Given the description of an element on the screen output the (x, y) to click on. 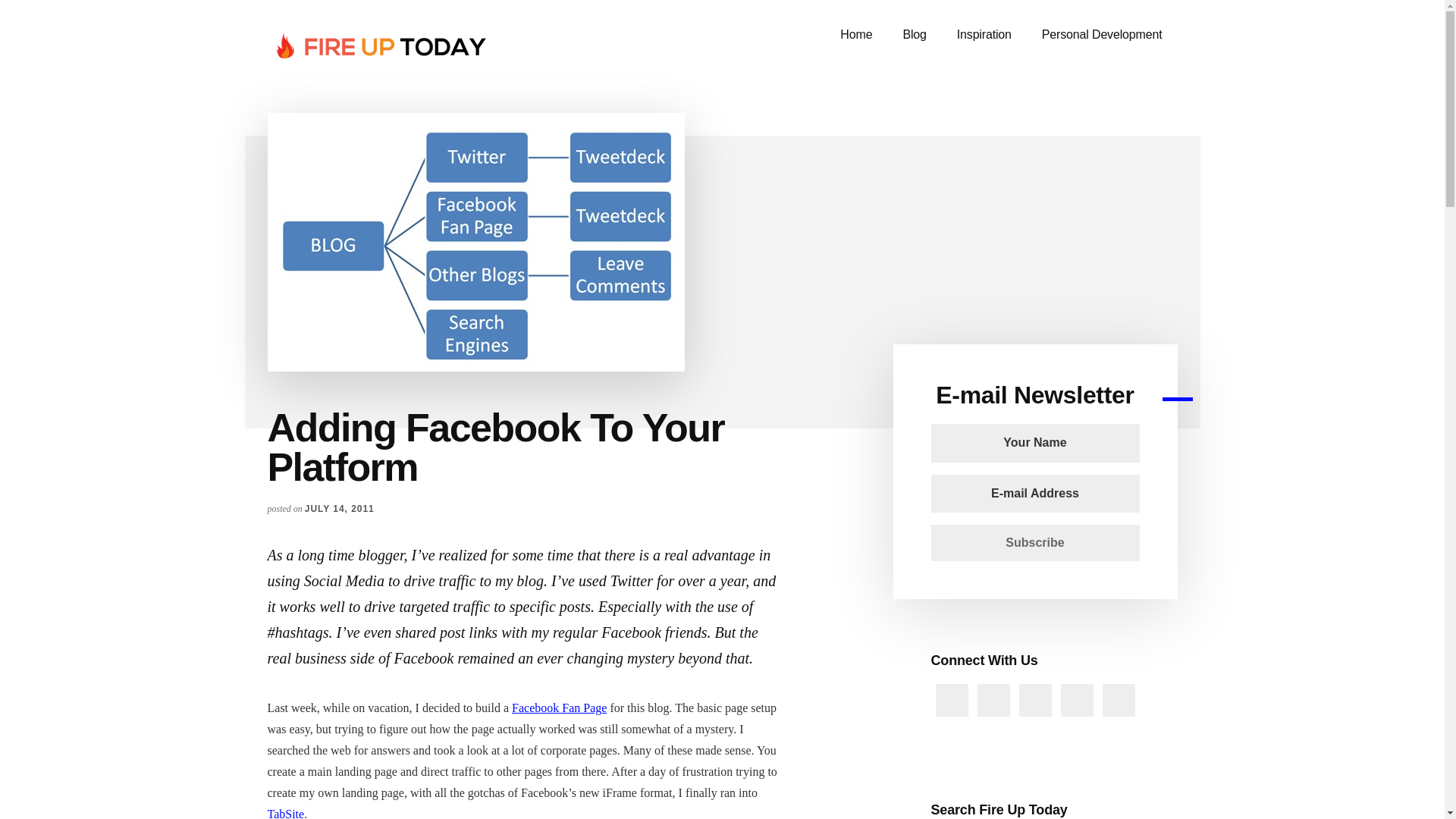
Personal Development (1101, 34)
Blog (913, 34)
Subscribe (1035, 542)
TabSite (285, 813)
Home (855, 34)
Inspiration (984, 34)
Facebook Fan Page (559, 707)
